Given the description of an element on the screen output the (x, y) to click on. 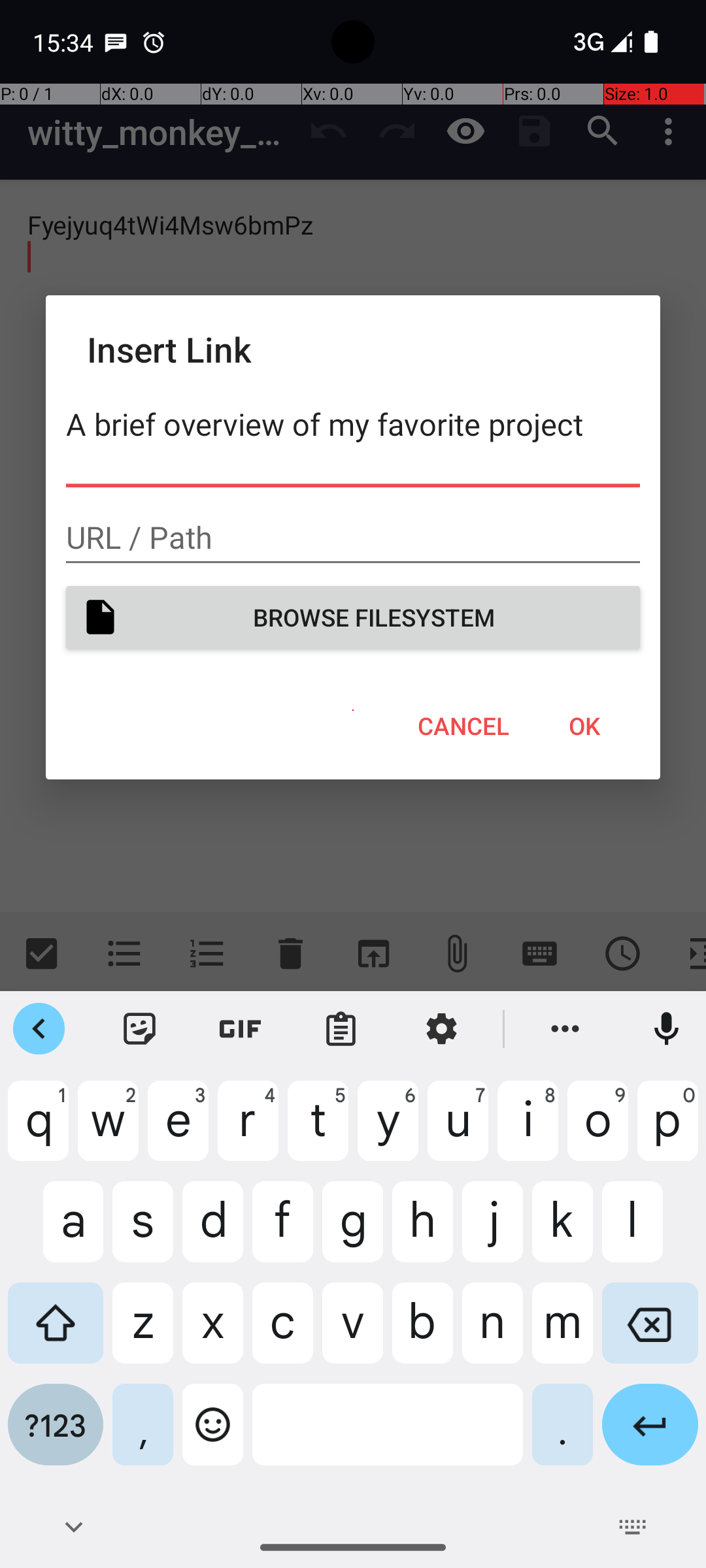
A brief overview of my favorite project
 Element type: android.widget.EditText (352, 442)
URL / Path Element type: android.widget.EditText (352, 537)
